Given the description of an element on the screen output the (x, y) to click on. 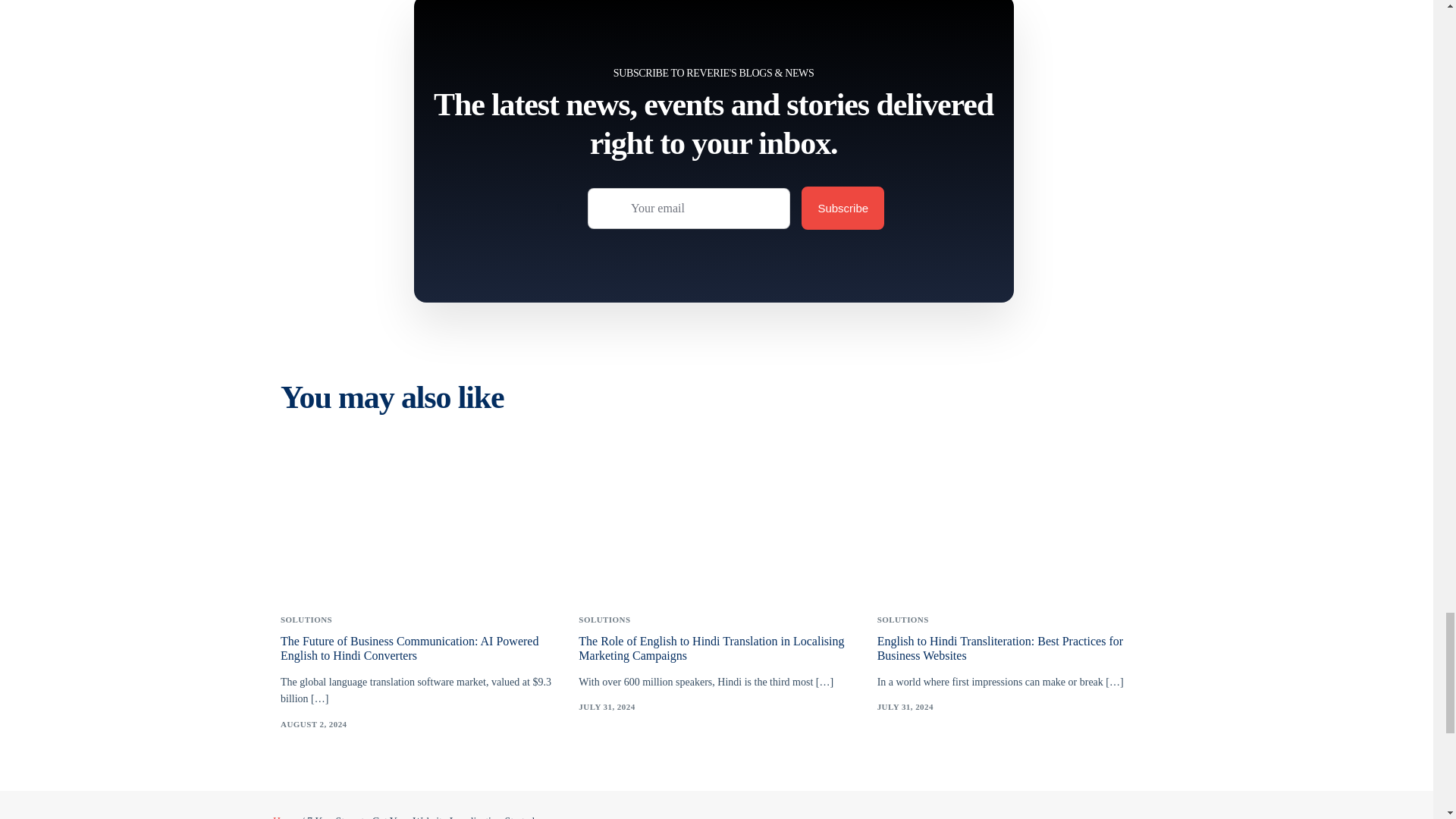
View Solutions posts (604, 619)
View Solutions posts (902, 619)
View Solutions posts (306, 619)
